Given the description of an element on the screen output the (x, y) to click on. 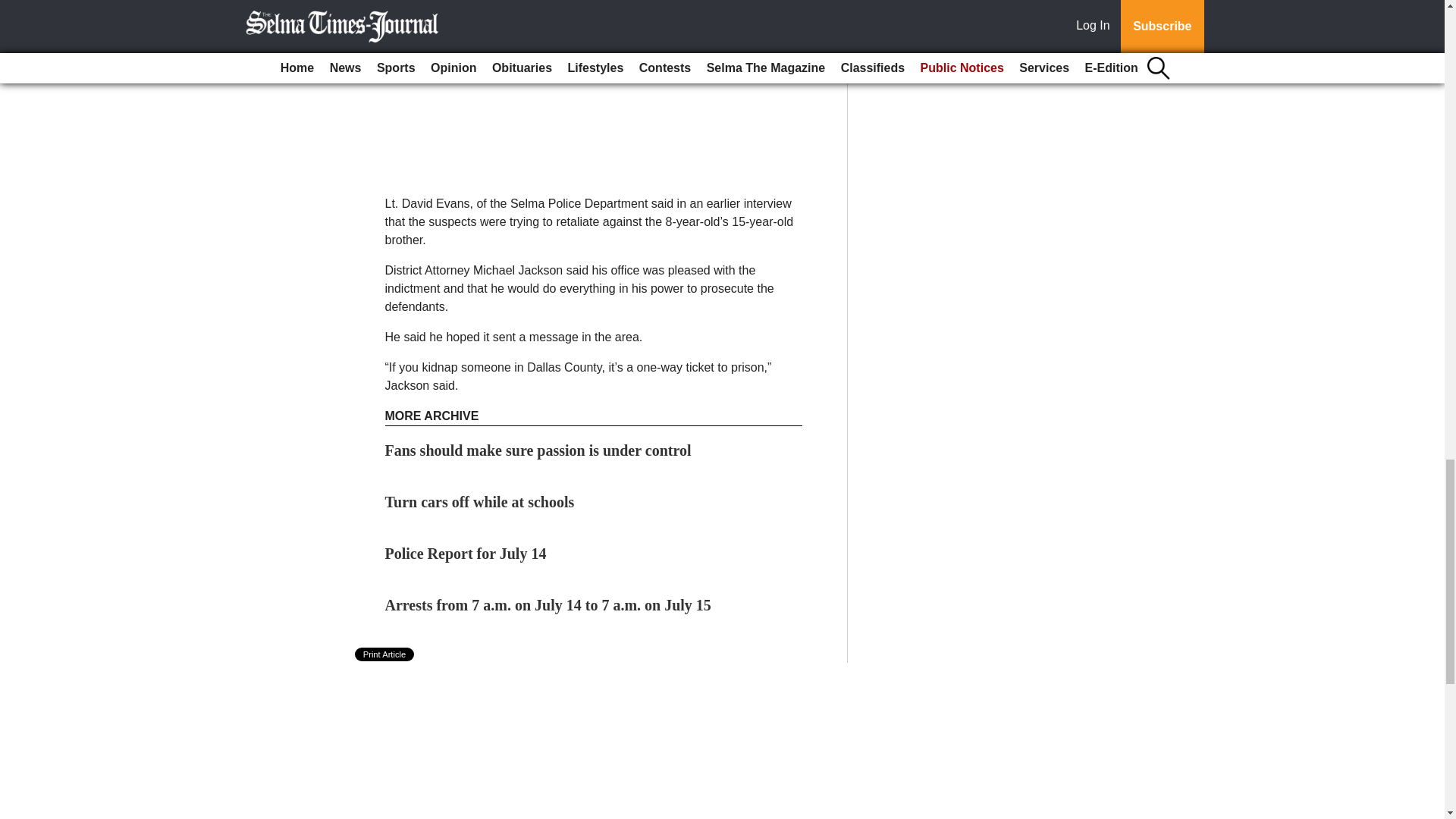
Fans should make sure passion is under control (538, 450)
Fans should make sure passion is under control (538, 450)
Arrests from 7 a.m. on July 14 to 7 a.m. on July 15 (548, 605)
Print Article (384, 653)
Police Report for July 14 (466, 553)
Turn cars off while at schools (480, 501)
Arrests from 7 a.m. on July 14 to 7 a.m. on July 15 (548, 605)
Turn cars off while at schools (480, 501)
Police Report for July 14 (466, 553)
